Given the description of an element on the screen output the (x, y) to click on. 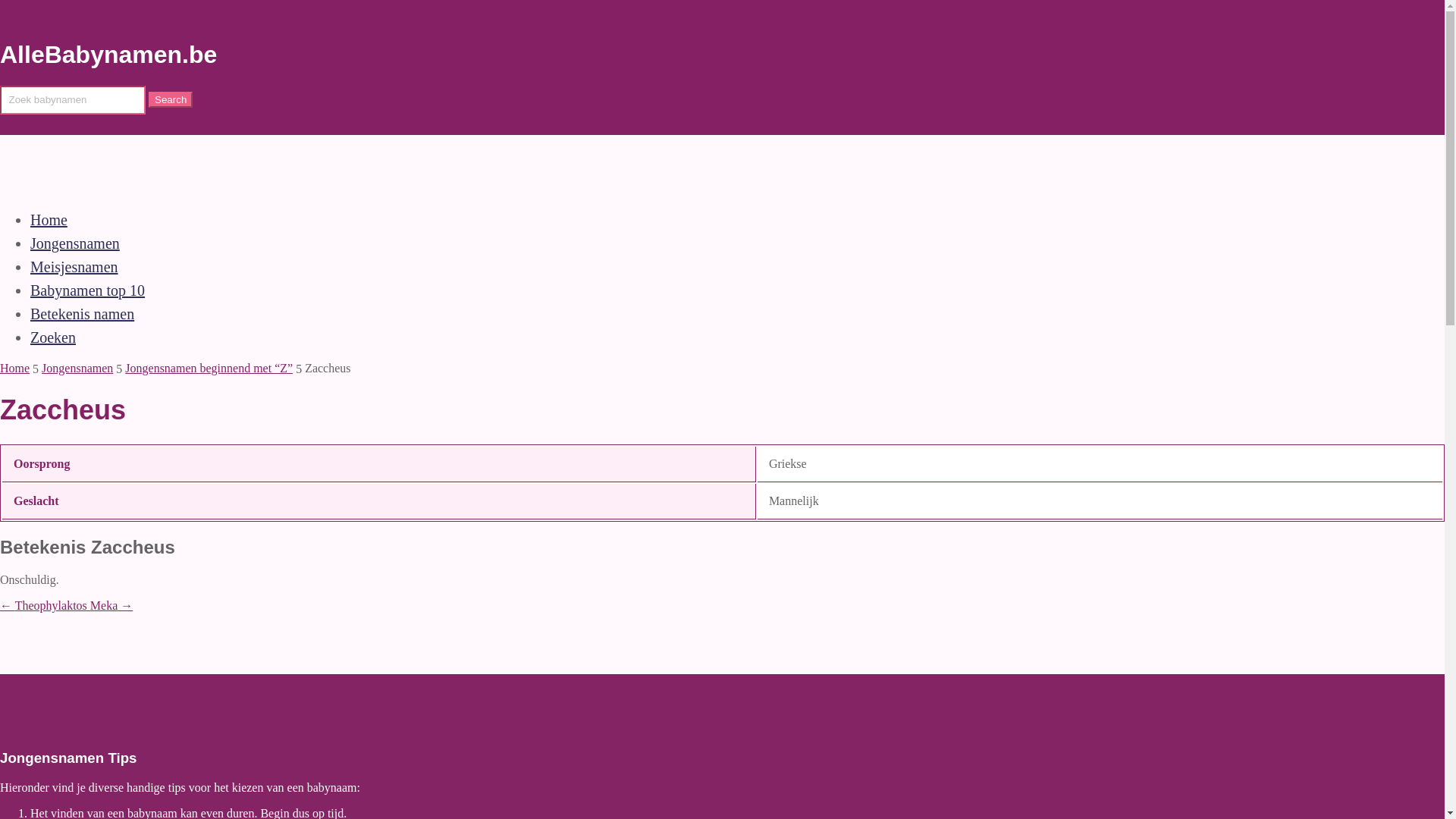
Babynamen top 10 Element type: text (87, 290)
Jongensnamen Element type: text (76, 367)
Zoeken Element type: text (52, 337)
AlleBabynamen.be Element type: text (108, 54)
Meisjesnamen Element type: text (74, 266)
Betekenis namen Element type: text (82, 313)
Search Element type: text (170, 99)
Home Element type: text (48, 219)
Jongensnamen Element type: text (74, 243)
Home Element type: text (14, 367)
